Given the description of an element on the screen output the (x, y) to click on. 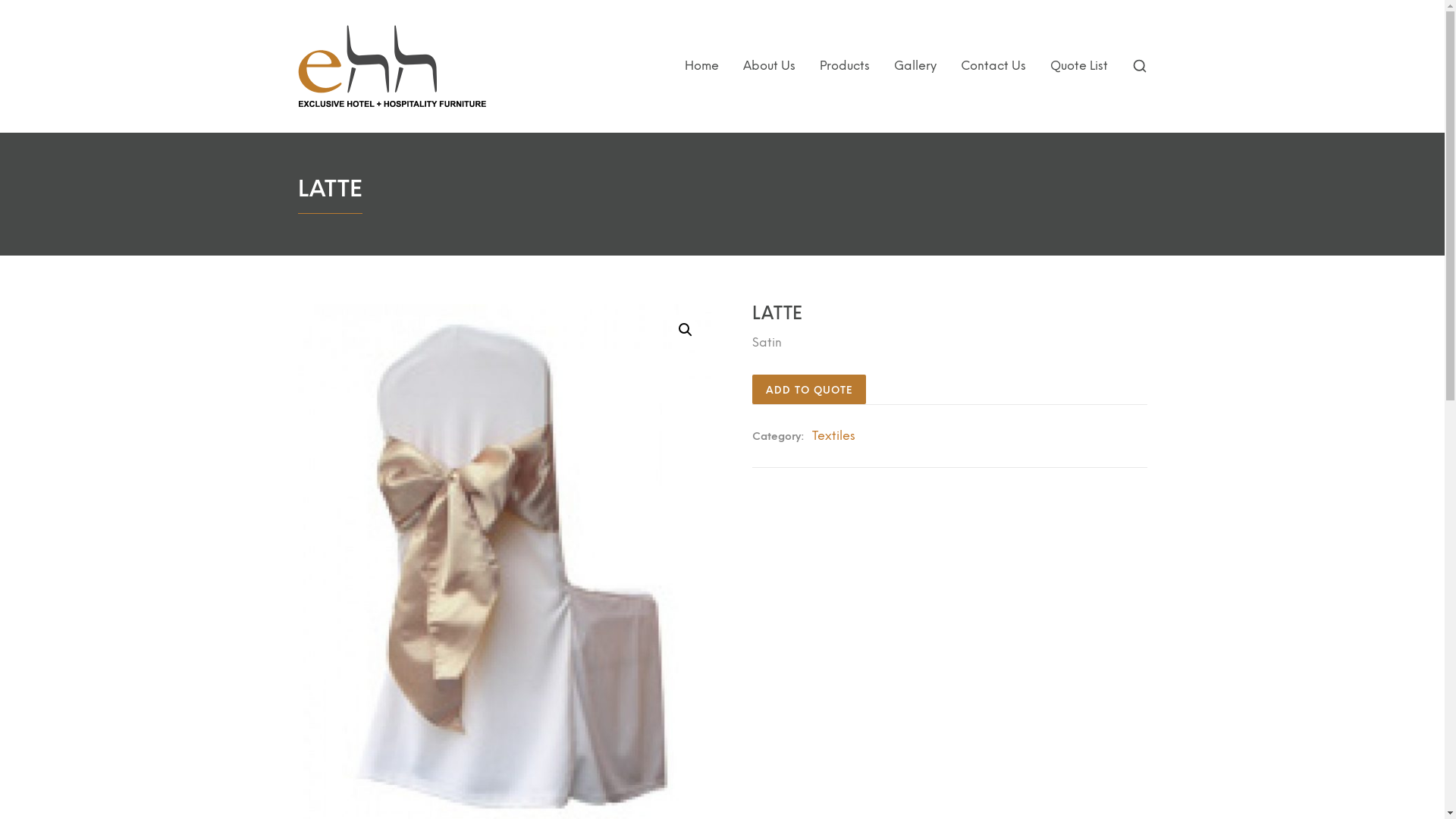
Contact Us Element type: text (992, 65)
Home Element type: text (701, 65)
About Us Element type: text (769, 65)
Gallery Element type: text (914, 65)
Products Element type: text (844, 65)
ADD TO QUOTE Element type: text (809, 389)
Quote List Element type: text (1078, 65)
Textiles Element type: text (833, 435)
